Given the description of an element on the screen output the (x, y) to click on. 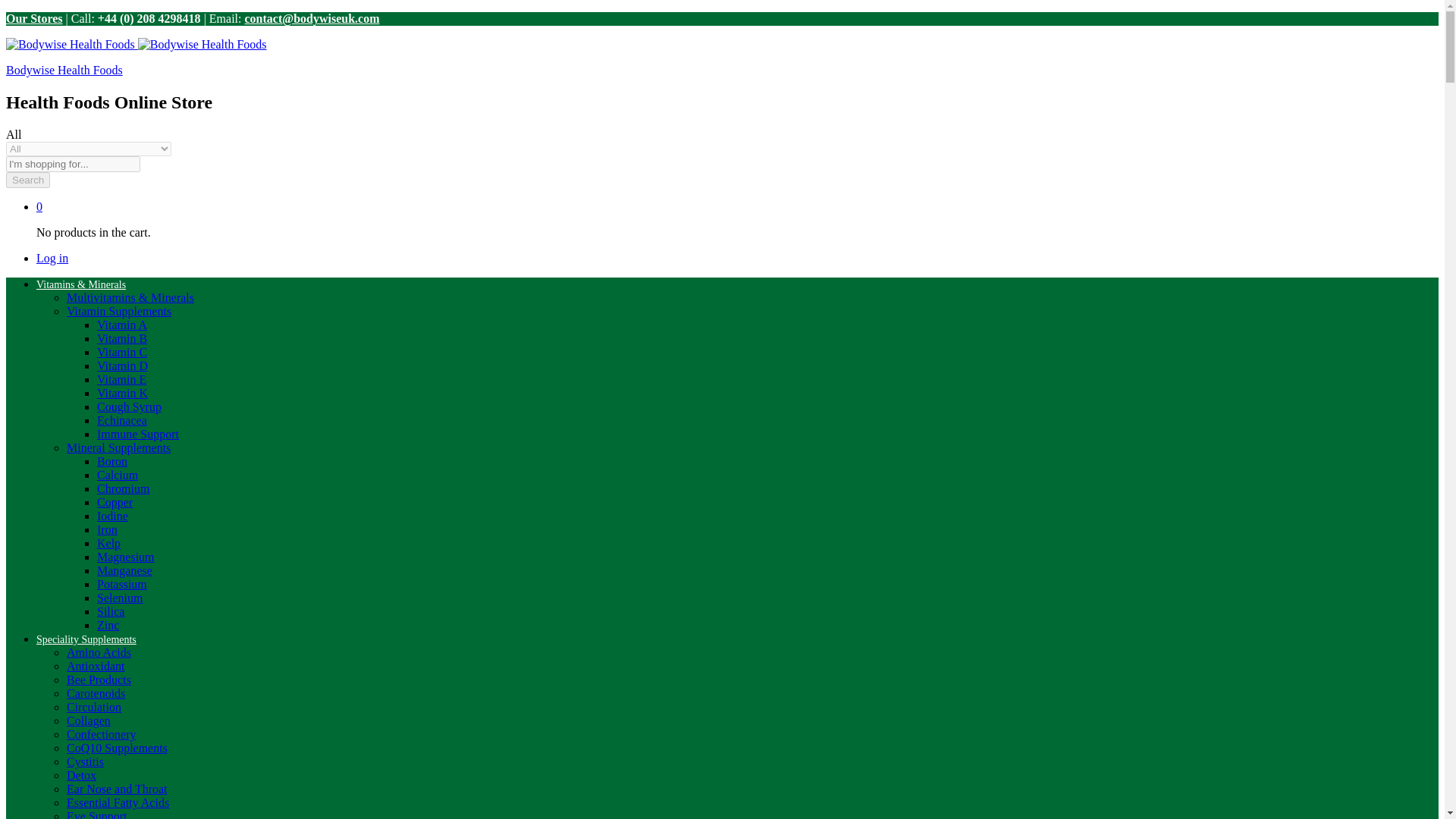
Manganese (124, 570)
Silica (110, 611)
Vitamin E (122, 379)
Bee Products (98, 679)
Zinc (108, 625)
Iodine (112, 515)
Calcium (117, 474)
Vitamin B (122, 338)
Boron (112, 461)
Vitamin Supplements (118, 310)
